Given the description of an element on the screen output the (x, y) to click on. 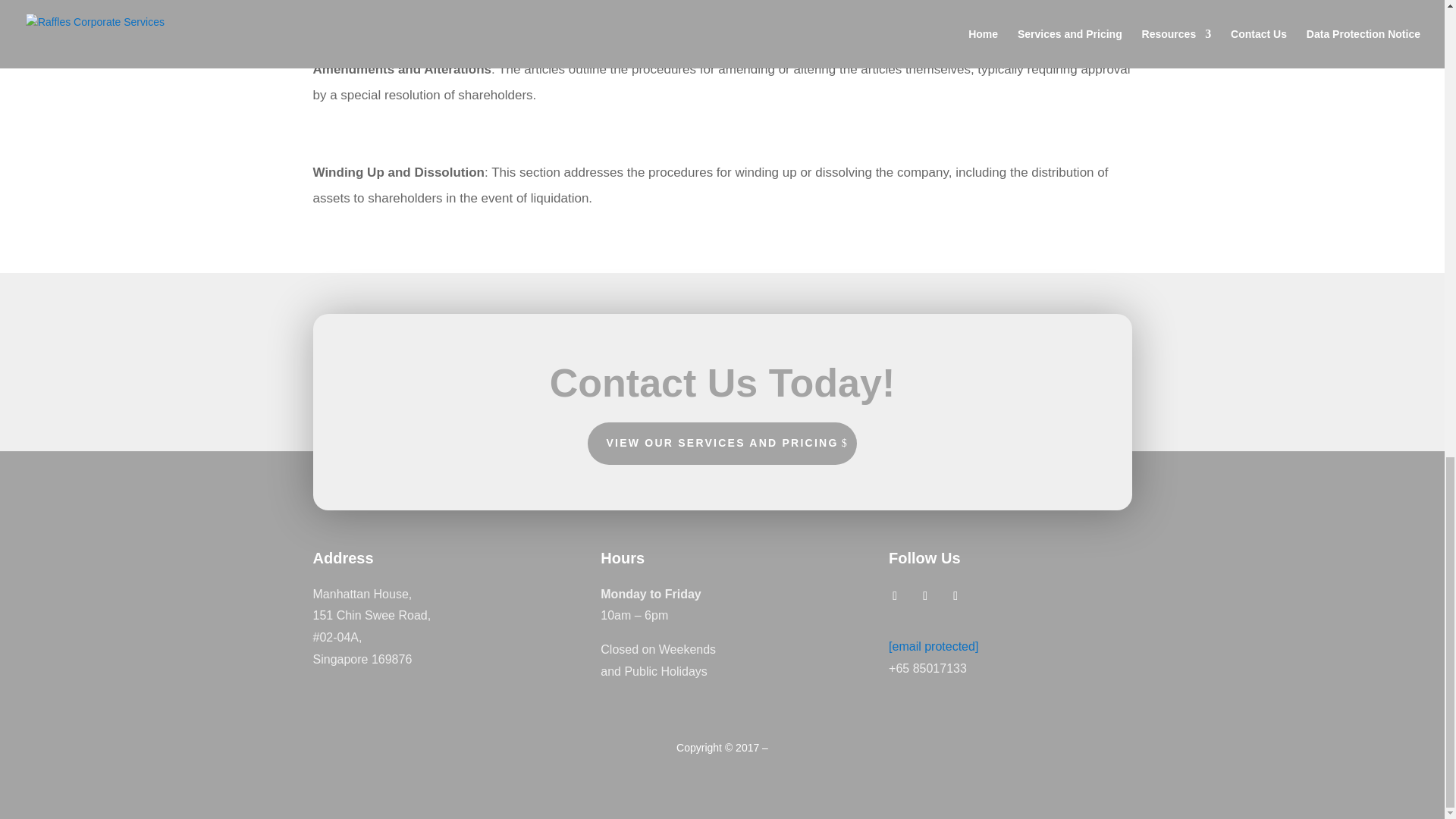
VIEW OUR SERVICES AND PRICING (722, 443)
Follow on Youtube (924, 595)
Follow on LinkedIn (955, 595)
Follow on Facebook (894, 595)
